Given the description of an element on the screen output the (x, y) to click on. 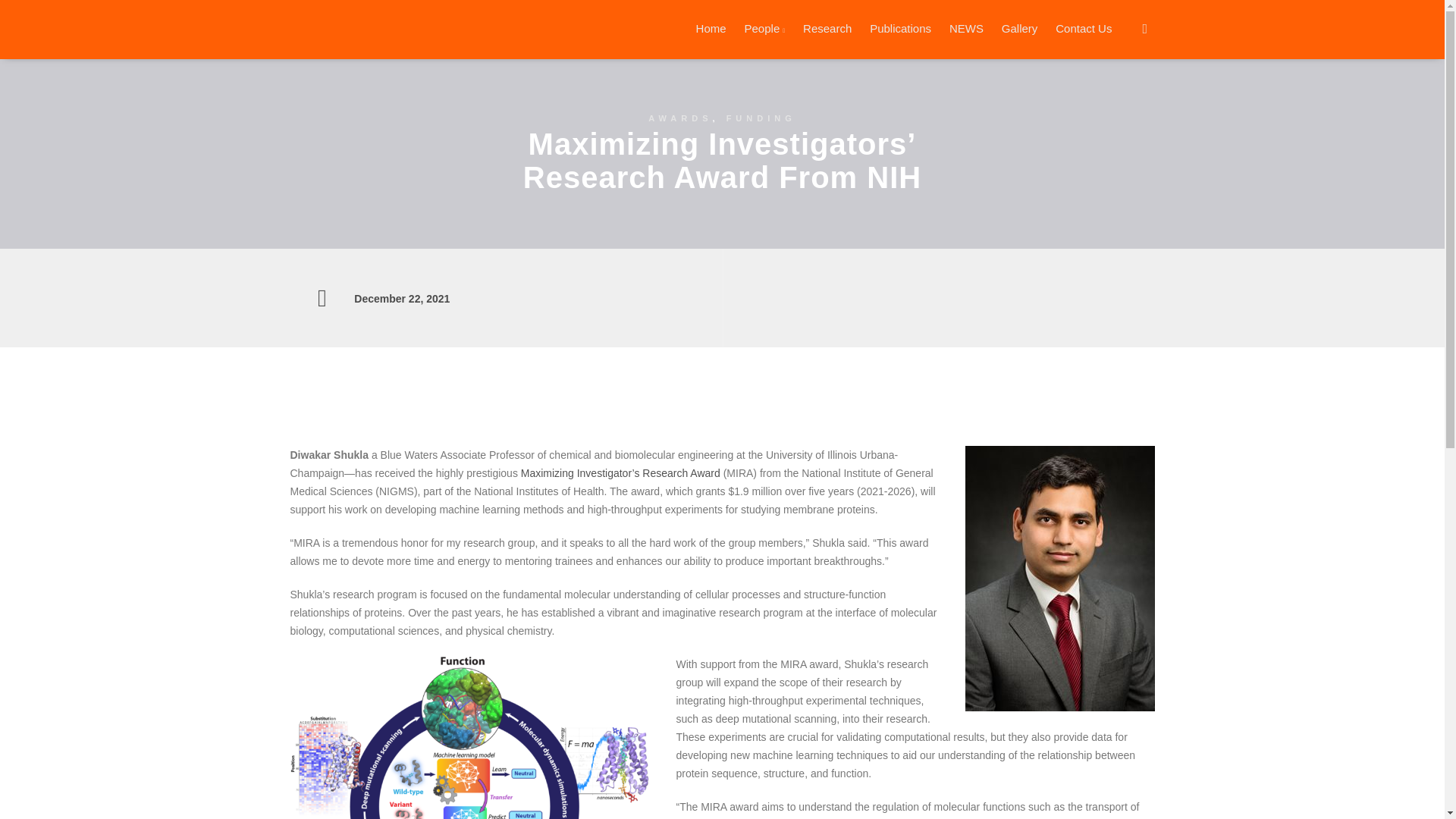
Contact Us (1077, 28)
People (758, 29)
Publications (894, 28)
AWARDS (679, 117)
Research (821, 28)
Gallery (1013, 28)
FUNDING (761, 117)
